Given the description of an element on the screen output the (x, y) to click on. 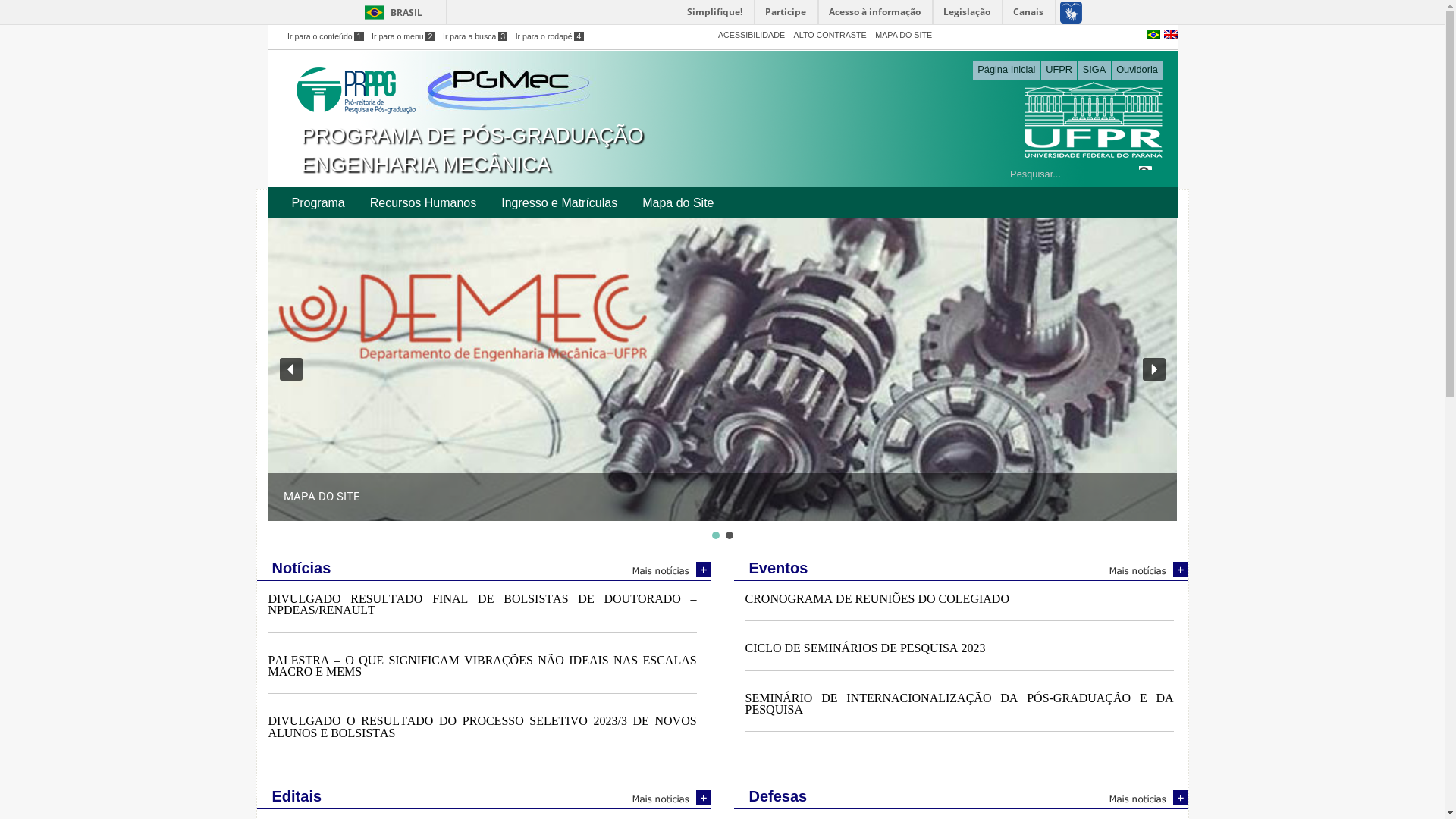
Ir para o menu2 Element type: text (403, 36)
Recursos Humanos Element type: text (423, 202)
Programa Element type: text (317, 202)
Mais noticias sobre Defesas Element type: hover (1141, 797)
Eventos Element type: text (961, 568)
Editais Element type: text (483, 797)
Portugues Element type: hover (1153, 33)
Ouvidoria Element type: text (1137, 70)
Mais noticias Element type: hover (665, 569)
Mapa do Site Element type: text (677, 202)
Mais noticias sobre Editais Element type: hover (665, 797)
BRASIL Element type: text (389, 12)
ALTO CONTRASTE Element type: text (829, 34)
MAPA DO SITE Element type: text (903, 34)
Defesas Element type: text (961, 797)
SIGA Element type: text (1093, 70)
English Element type: hover (1169, 33)
UFPR Element type: text (1059, 70)
Ir para a busca3 Element type: text (475, 36)
Mais noticias sobre Eventos Element type: hover (1141, 569)
ACESSIBILIDADE Element type: text (751, 34)
